Given the description of an element on the screen output the (x, y) to click on. 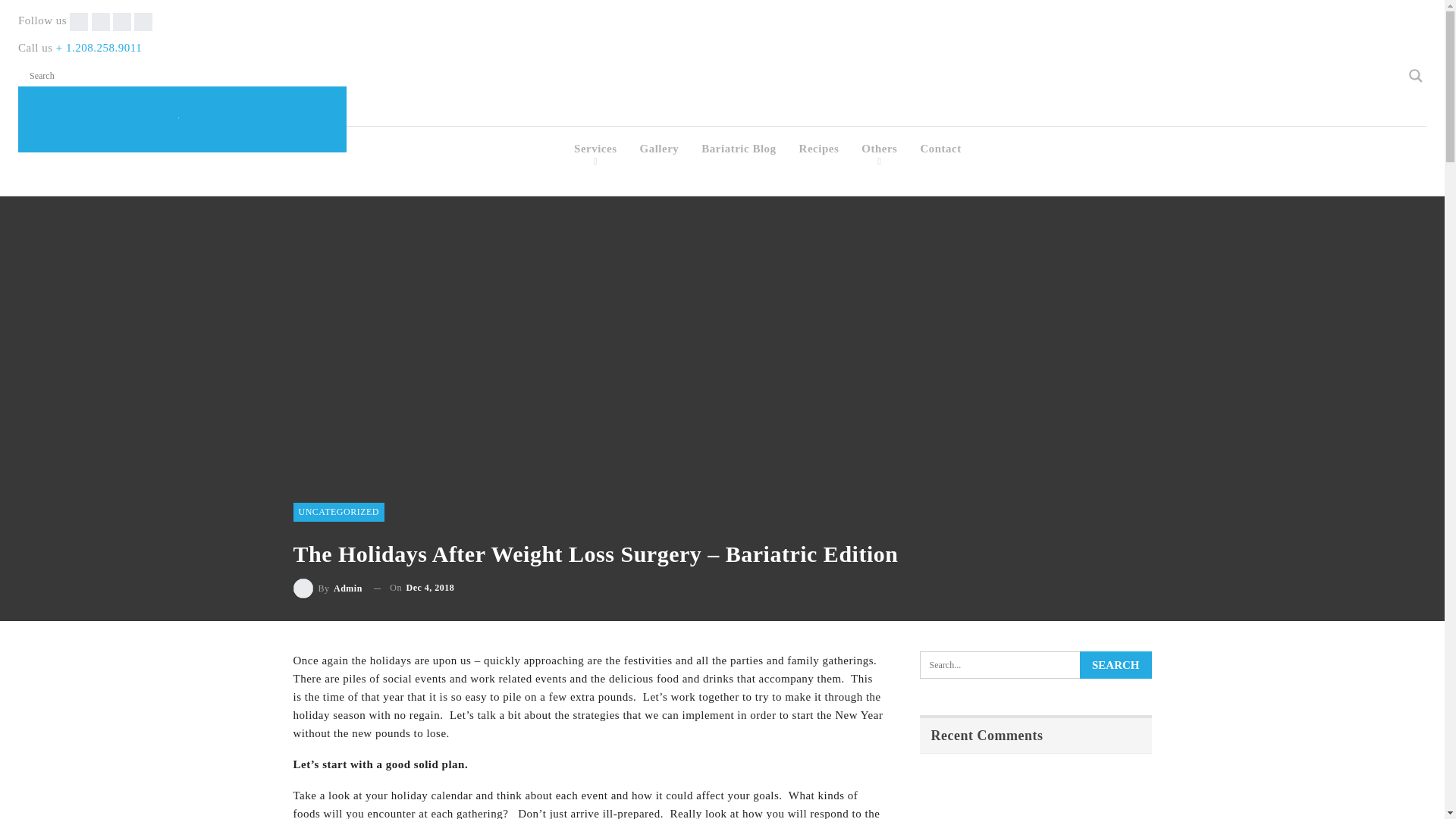
Search for: (1034, 664)
Services (594, 148)
Browse Author Articles (326, 588)
Search (1115, 664)
Search (1115, 664)
